Given the description of an element on the screen output the (x, y) to click on. 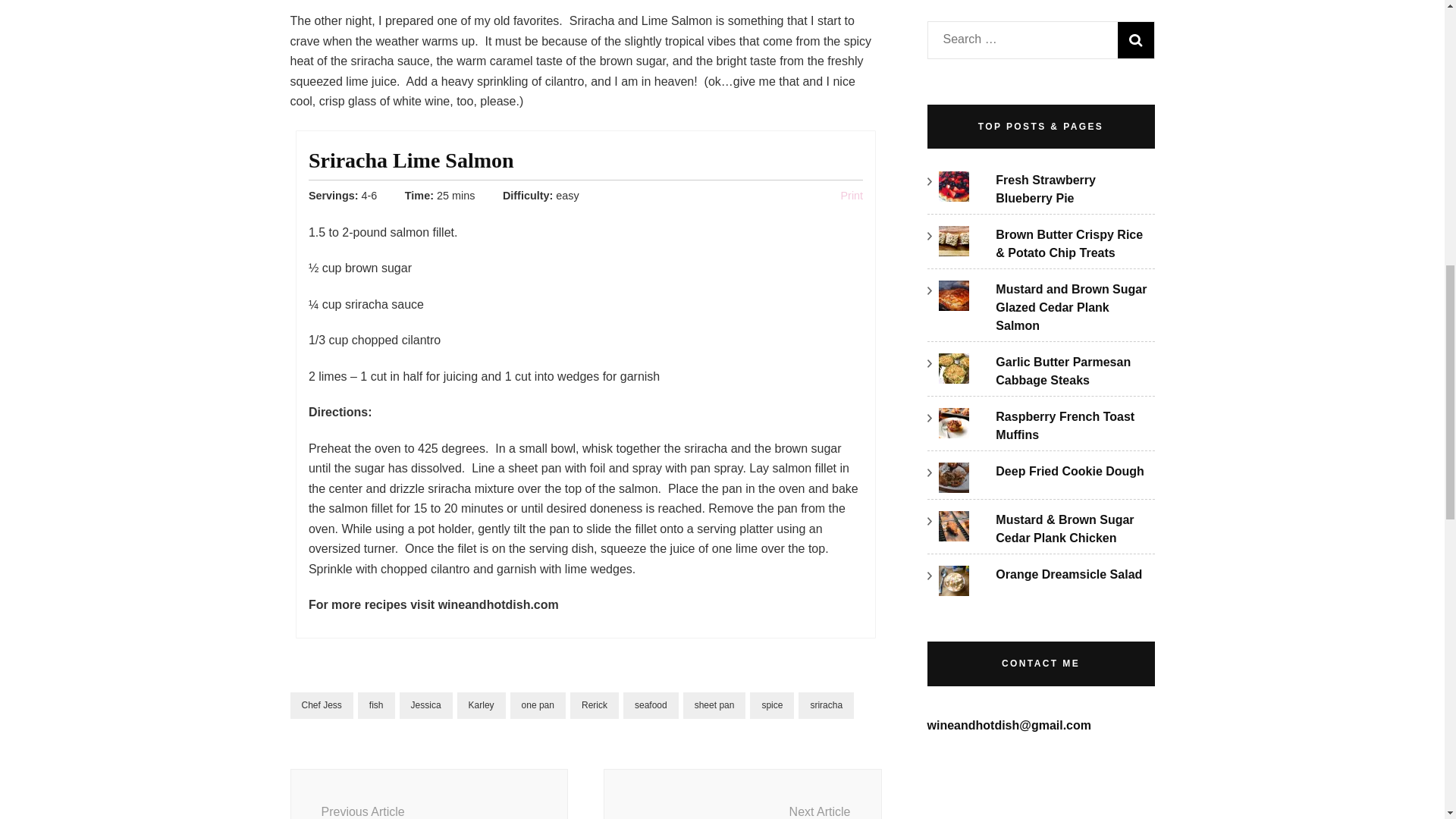
spice (771, 705)
Chef Jess (428, 794)
Search (320, 705)
Karley (743, 794)
Search (1136, 40)
one pan (481, 705)
seafood (1136, 40)
Print (538, 705)
Rerick (650, 705)
sriracha (852, 195)
Jessica (594, 705)
sheet pan (825, 705)
fish (425, 705)
